Given the description of an element on the screen output the (x, y) to click on. 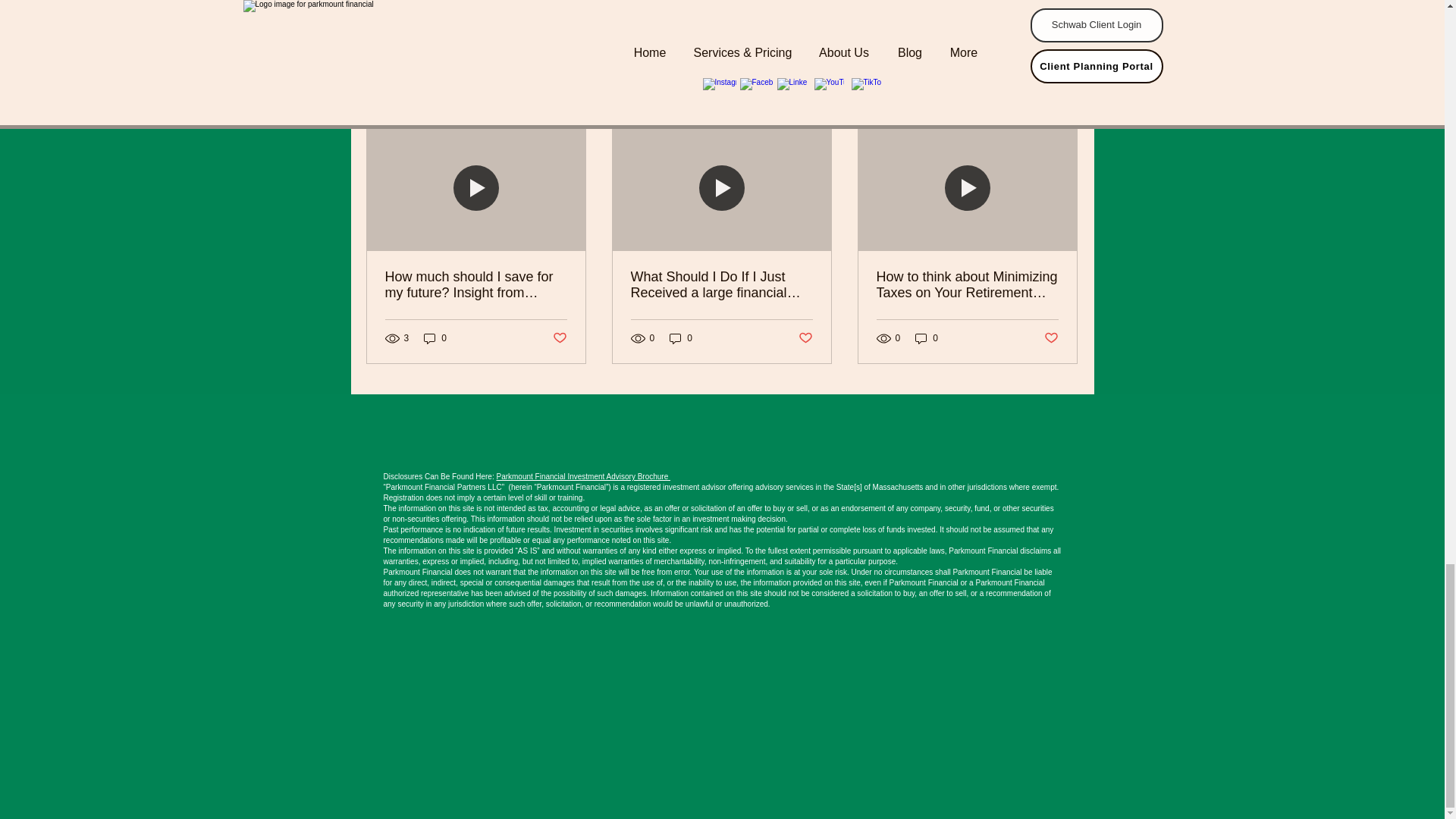
Post not marked as liked (995, 18)
0 (926, 338)
0 (435, 338)
Parkmount Financial Investment Advisory Brochure  (582, 476)
0 (681, 338)
See All (1061, 101)
How to think about Minimizing Taxes on Your Retirement Plan (967, 285)
Post not marked as liked (1050, 337)
Post not marked as liked (558, 337)
